Given the description of an element on the screen output the (x, y) to click on. 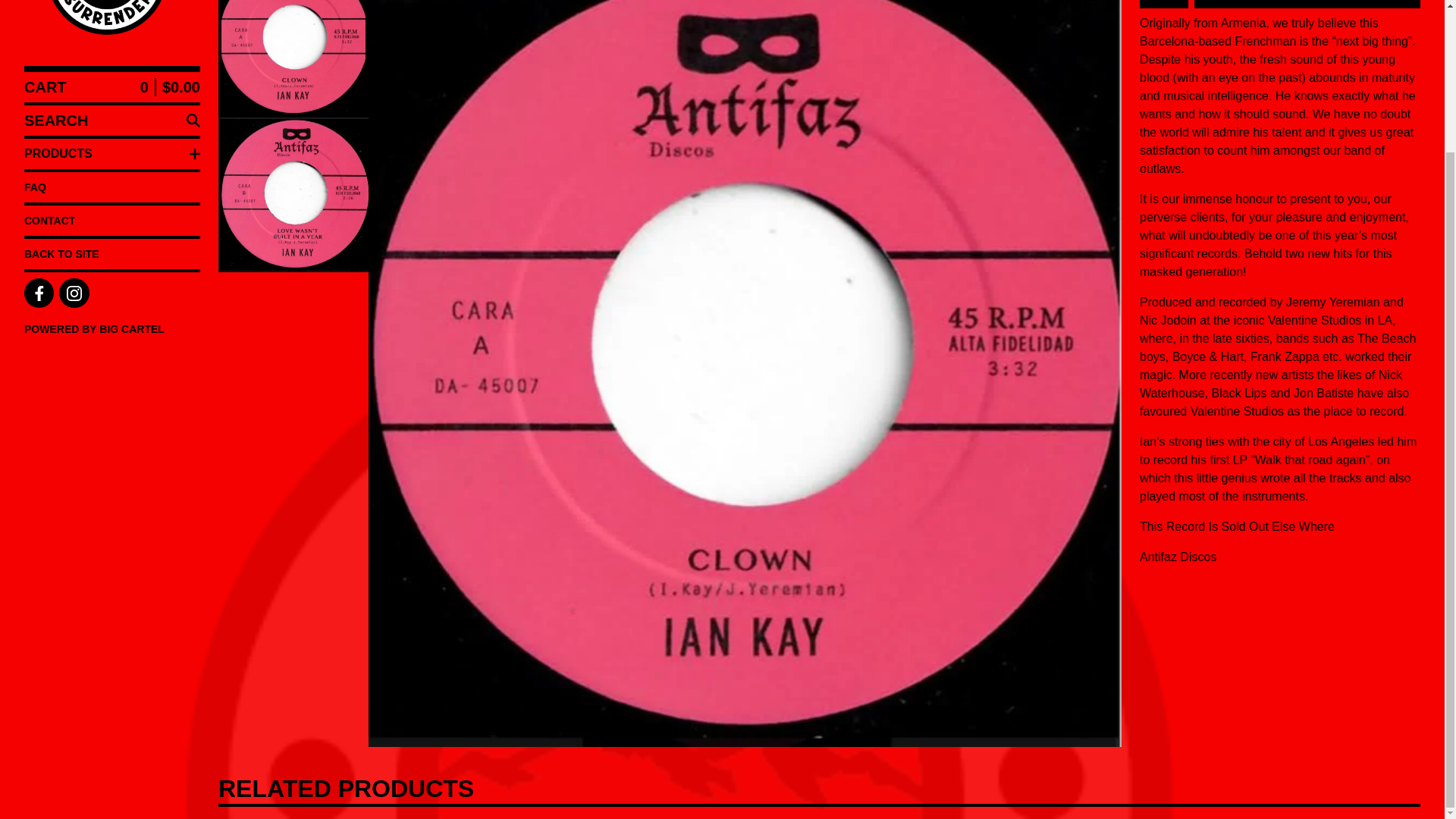
BACK TO SITE (112, 254)
View cart (112, 87)
CONTACT (112, 220)
POWERED BY BIG CARTEL (112, 329)
Home (112, 27)
PRODUCTS (112, 153)
FAQ (112, 186)
1 (1164, 0)
